Given the description of an element on the screen output the (x, y) to click on. 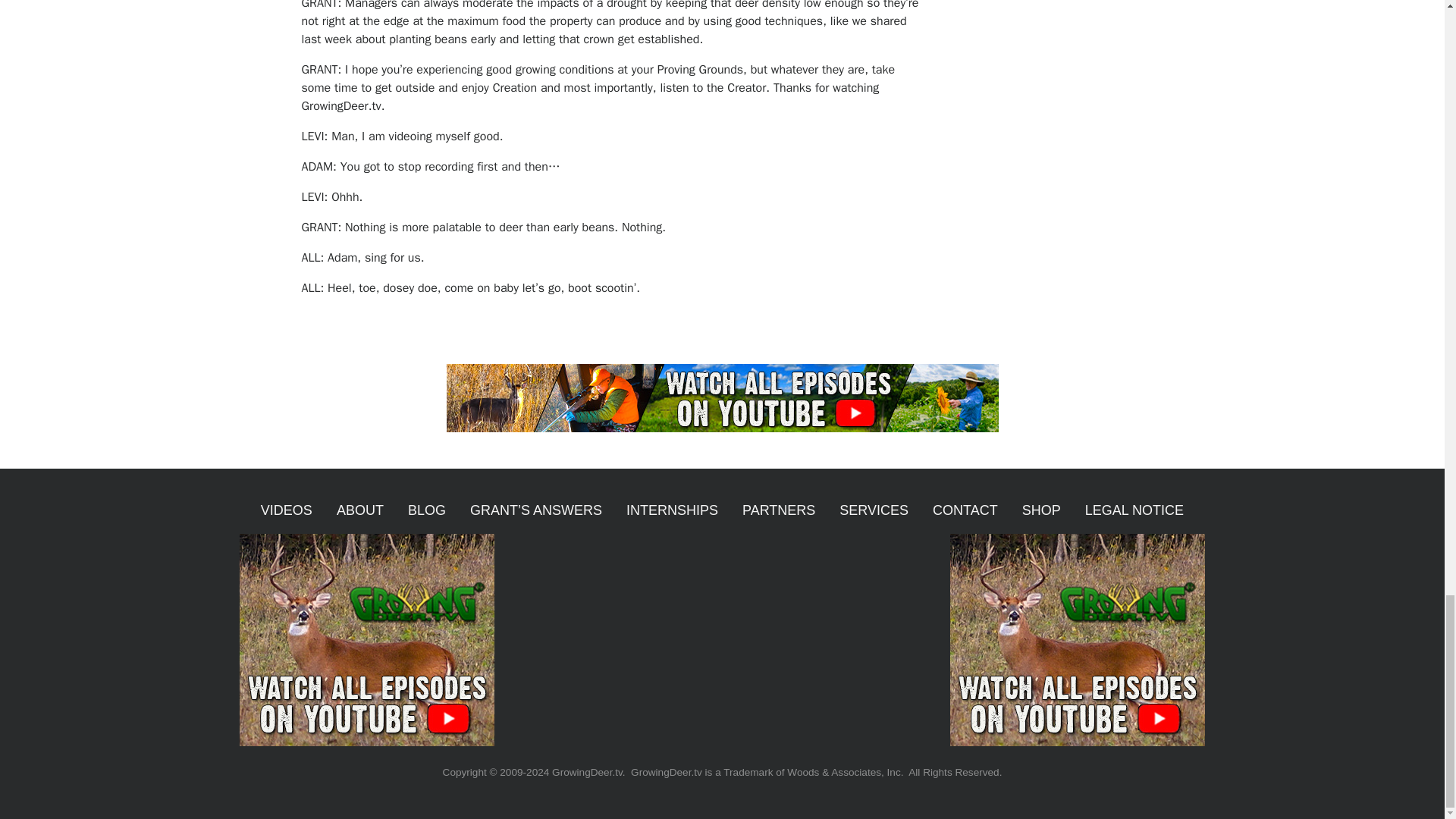
ABOUT (360, 510)
VIDEOS (286, 510)
BLOG (427, 510)
